Given the description of an element on the screen output the (x, y) to click on. 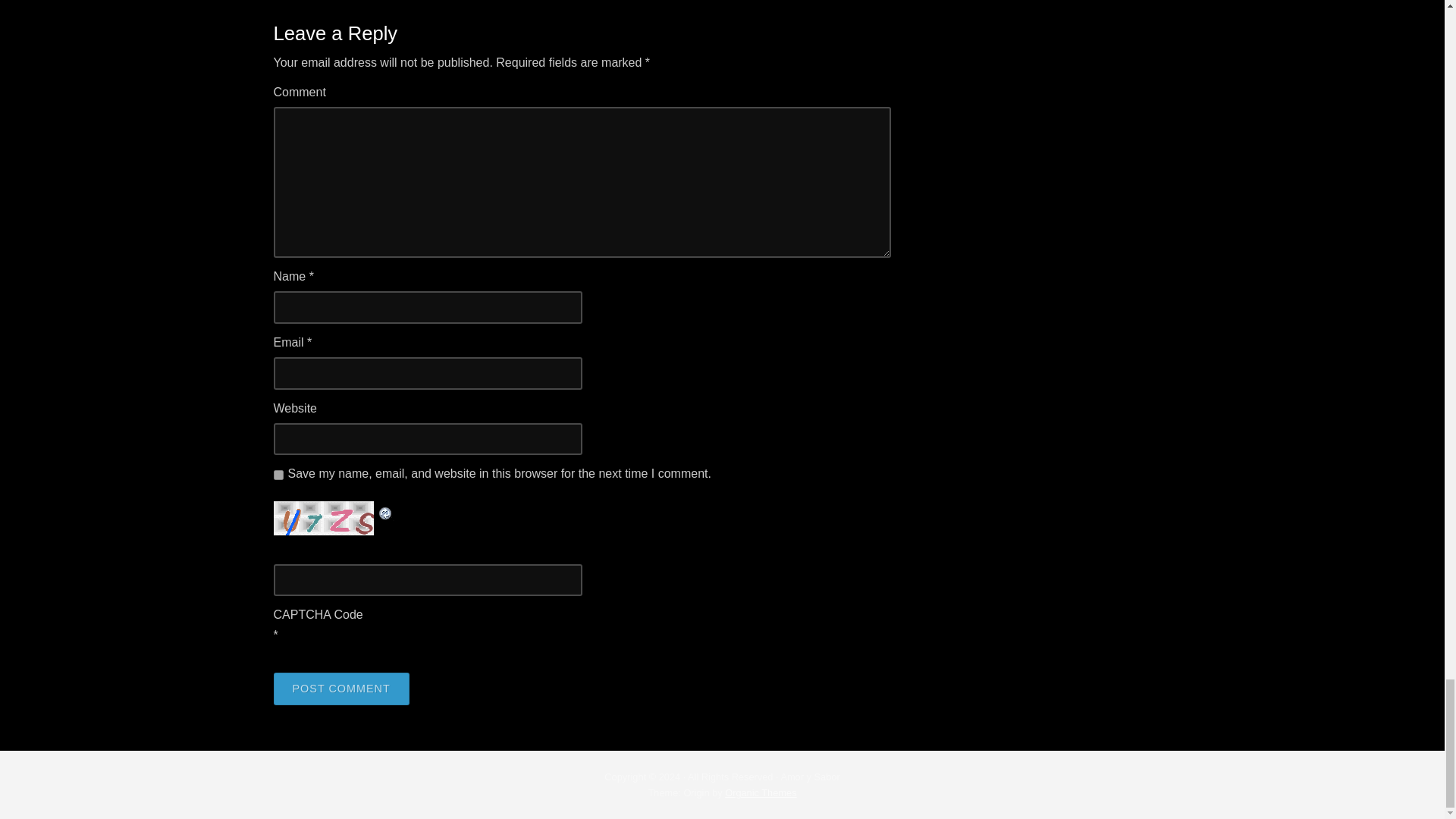
Post Comment (341, 688)
yes (277, 474)
CAPTCHA (325, 518)
Refresh (385, 510)
